Given the description of an element on the screen output the (x, y) to click on. 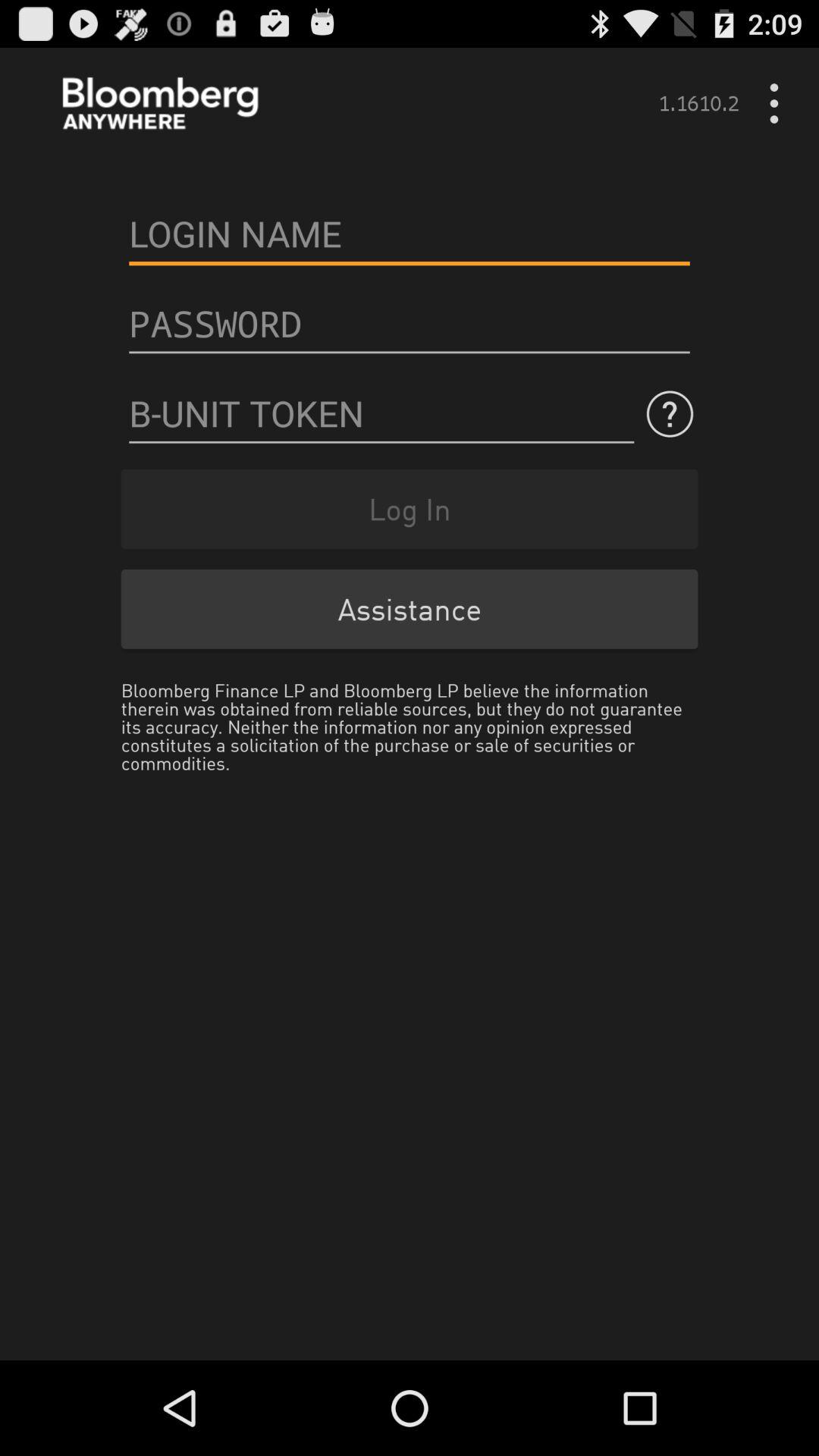
enter username (409, 234)
